Given the description of an element on the screen output the (x, y) to click on. 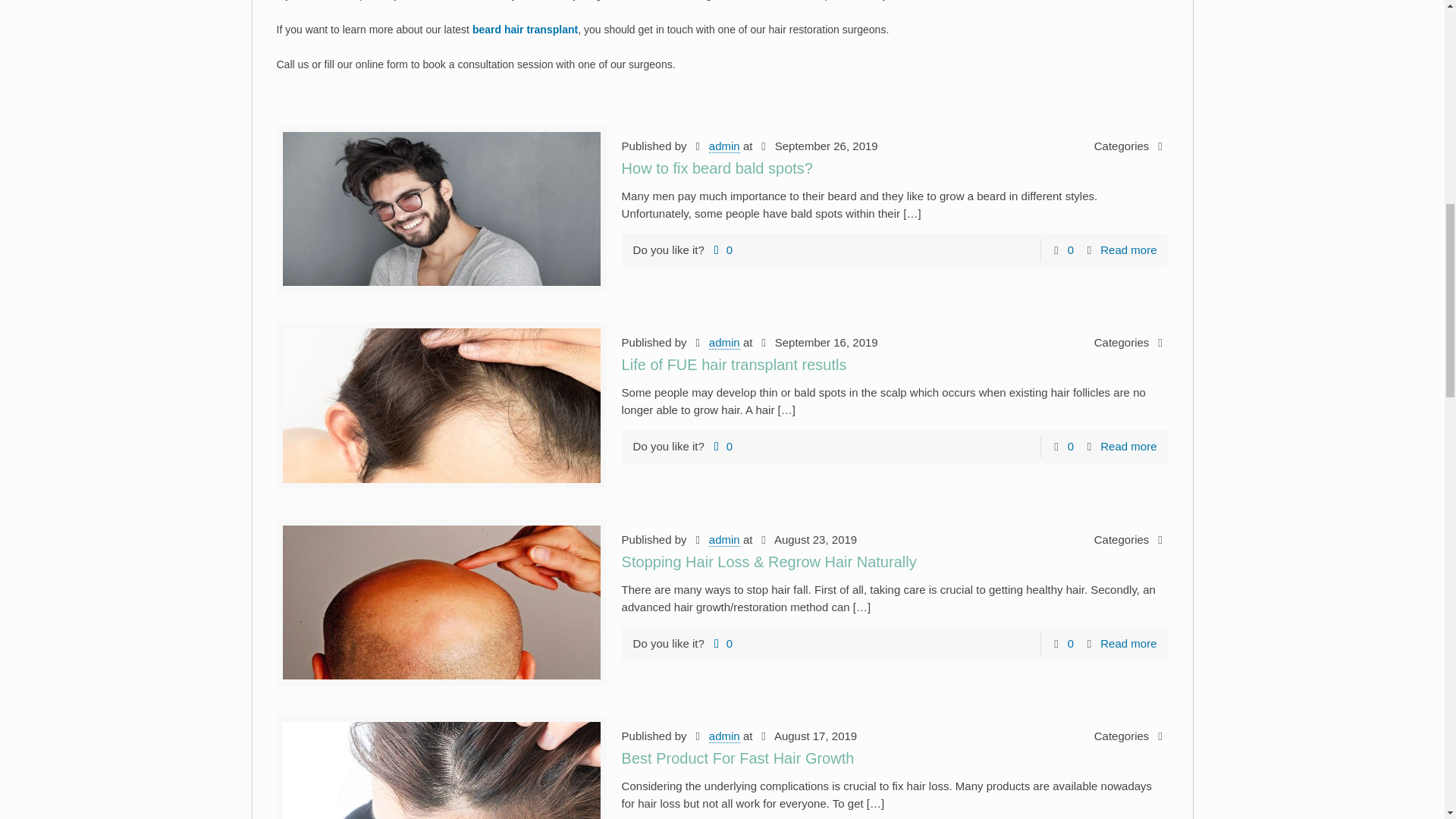
beard hair transplant (524, 29)
